Given the description of an element on the screen output the (x, y) to click on. 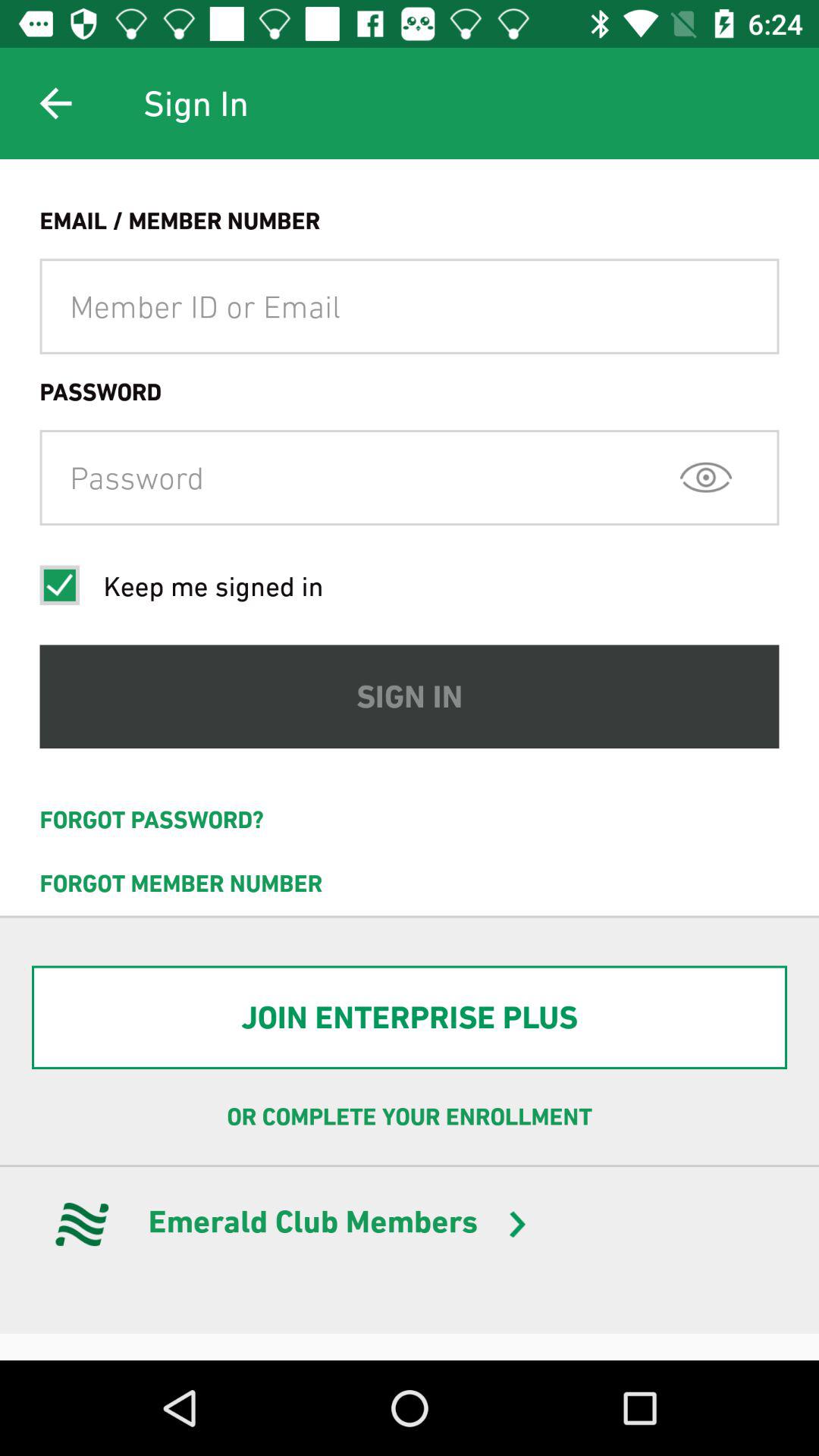
press item above the or complete your (409, 1017)
